Given the description of an element on the screen output the (x, y) to click on. 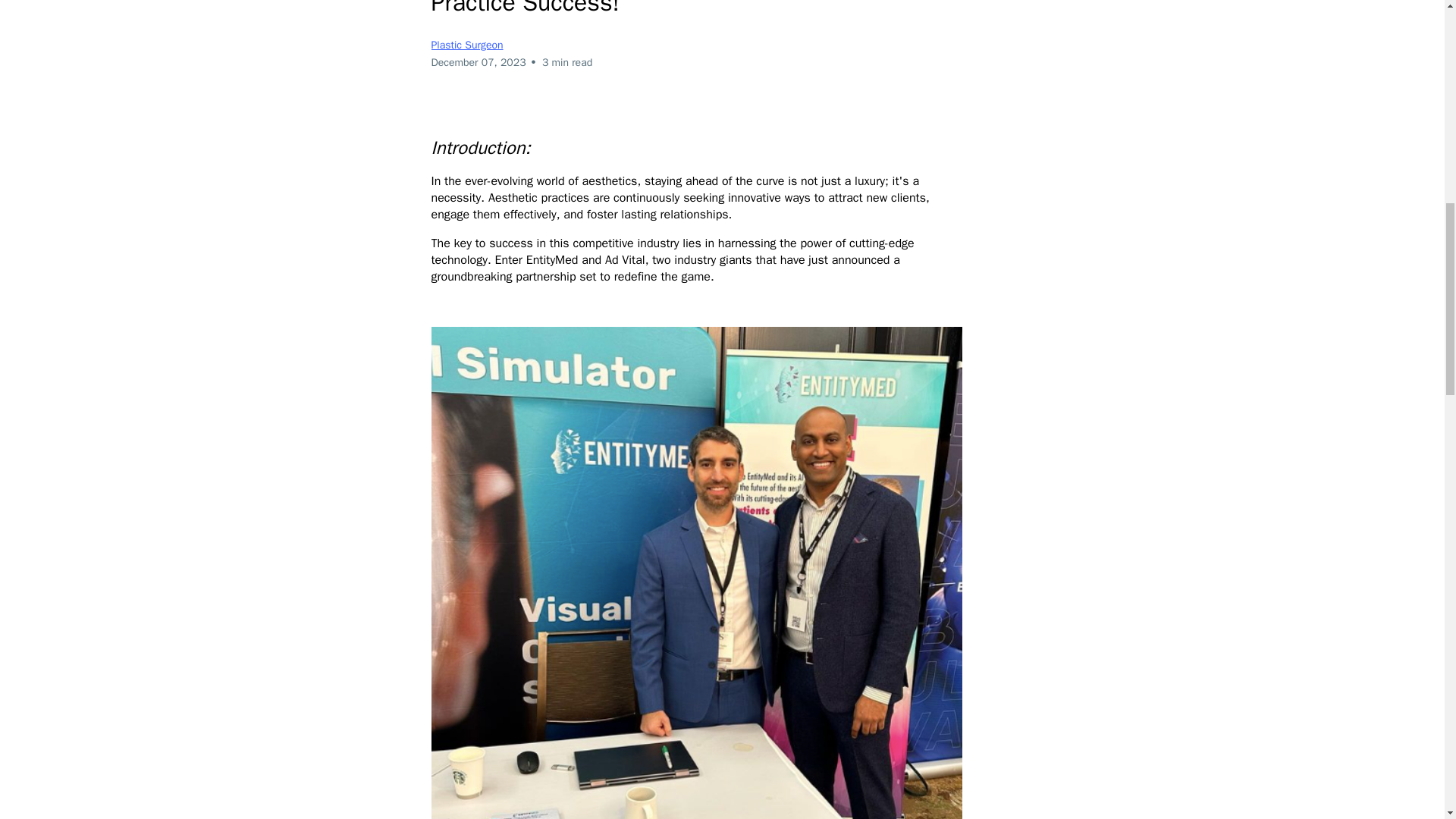
Plastic Surgeon (466, 44)
